Given the description of an element on the screen output the (x, y) to click on. 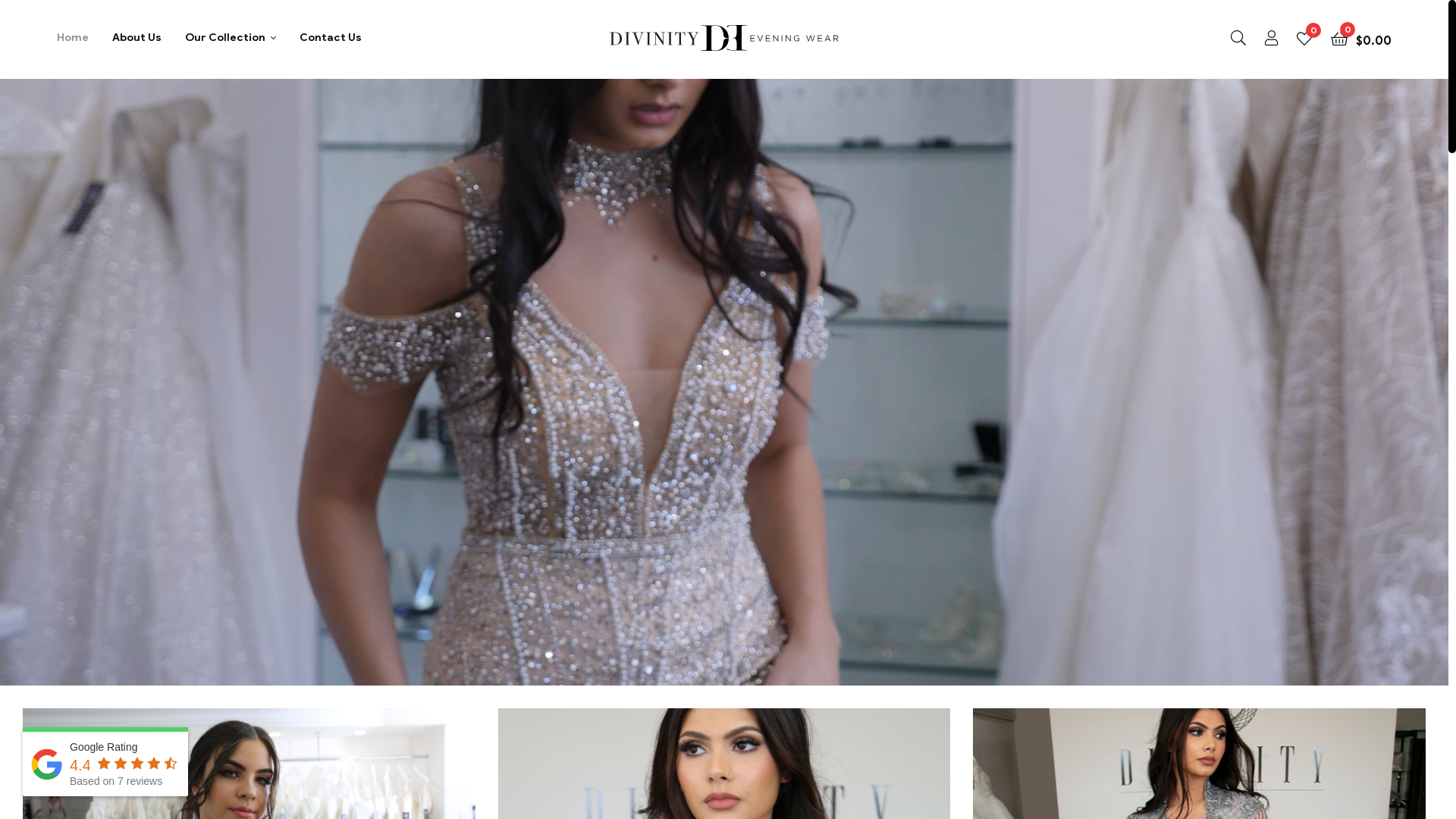
Home Element type: text (72, 37)
About Us Element type: text (136, 37)
Search Element type: text (859, 253)
0
$0.00 Element type: text (1360, 37)
0 Element type: text (1303, 37)
Contact Us Element type: text (330, 37)
Our Collection Element type: text (230, 37)
